Given the description of an element on the screen output the (x, y) to click on. 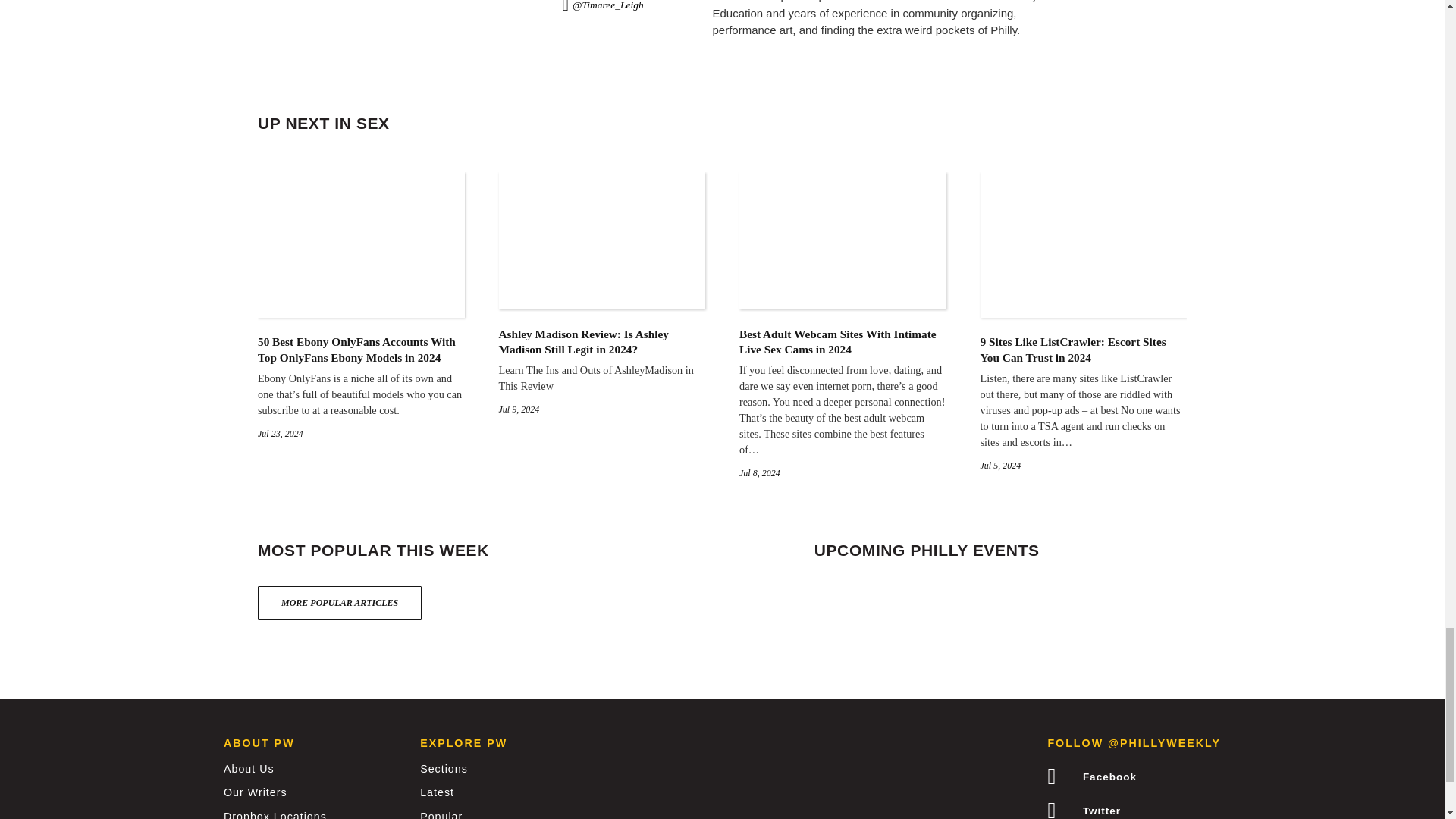
Best Adult Webcam Sites With Intimate Live Sex Cams in 2024 (842, 298)
